Given the description of an element on the screen output the (x, y) to click on. 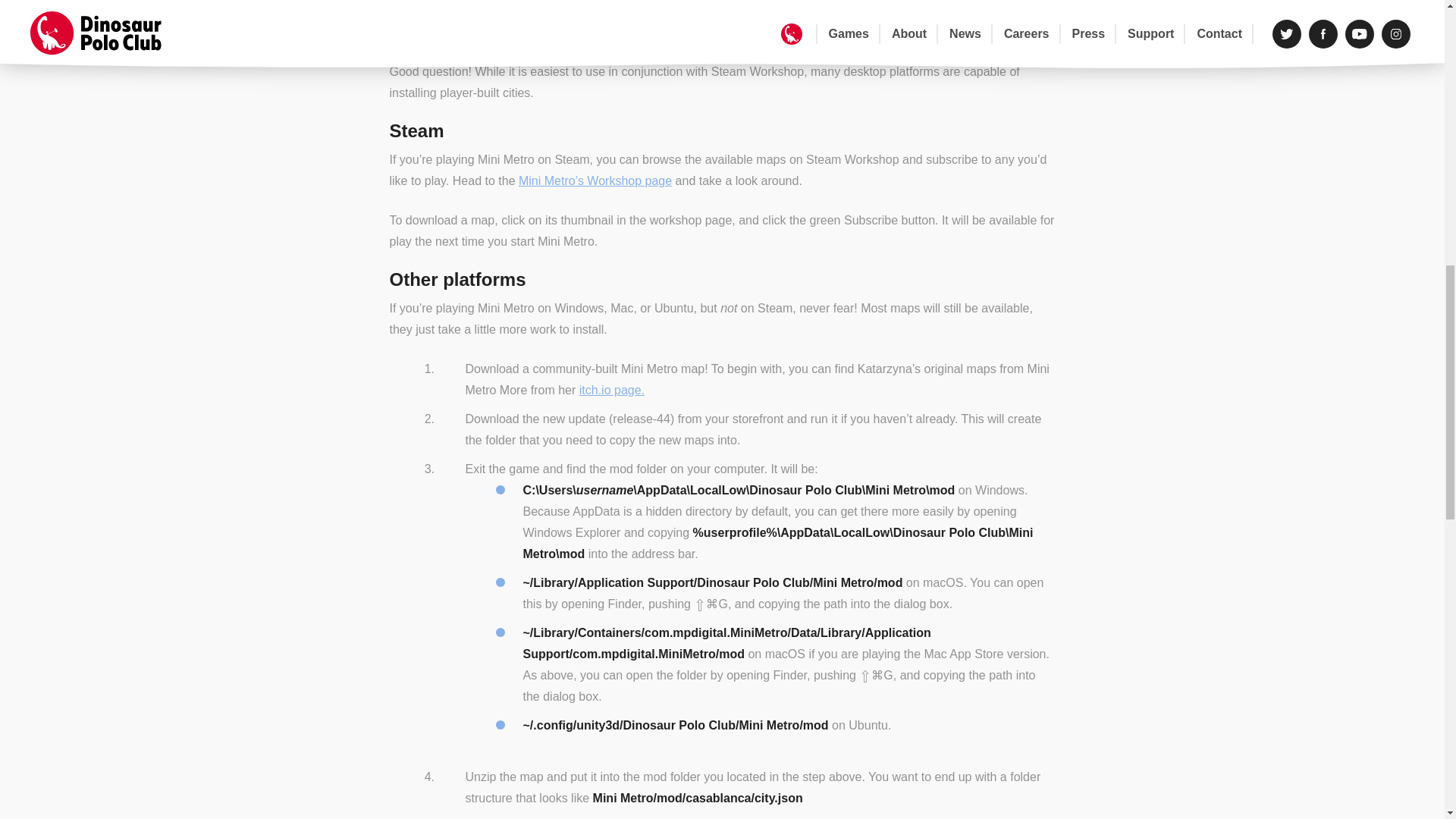
itch.io page. (612, 390)
